Given the description of an element on the screen output the (x, y) to click on. 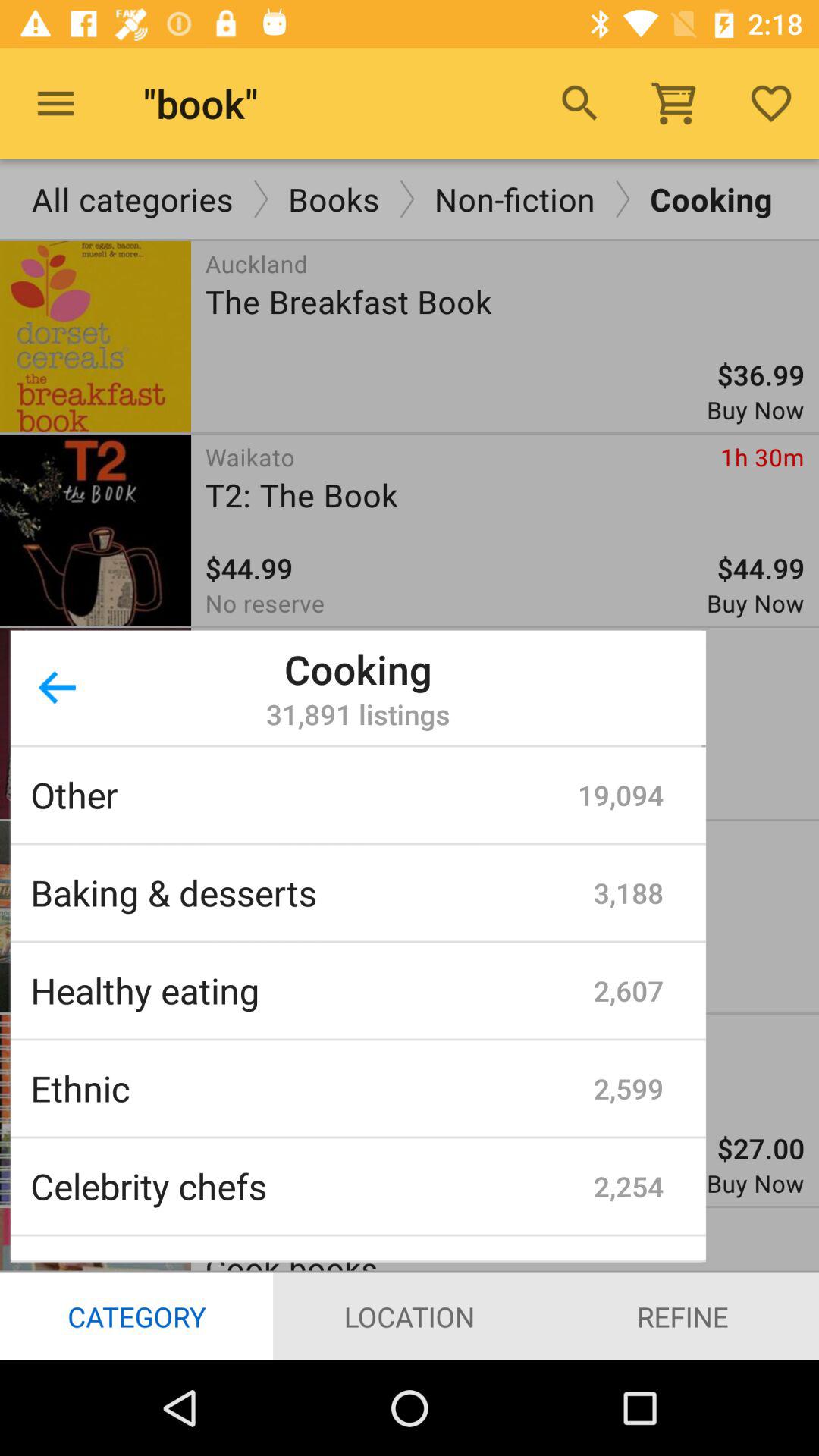
scroll until the healthy eating (311, 990)
